Given the description of an element on the screen output the (x, y) to click on. 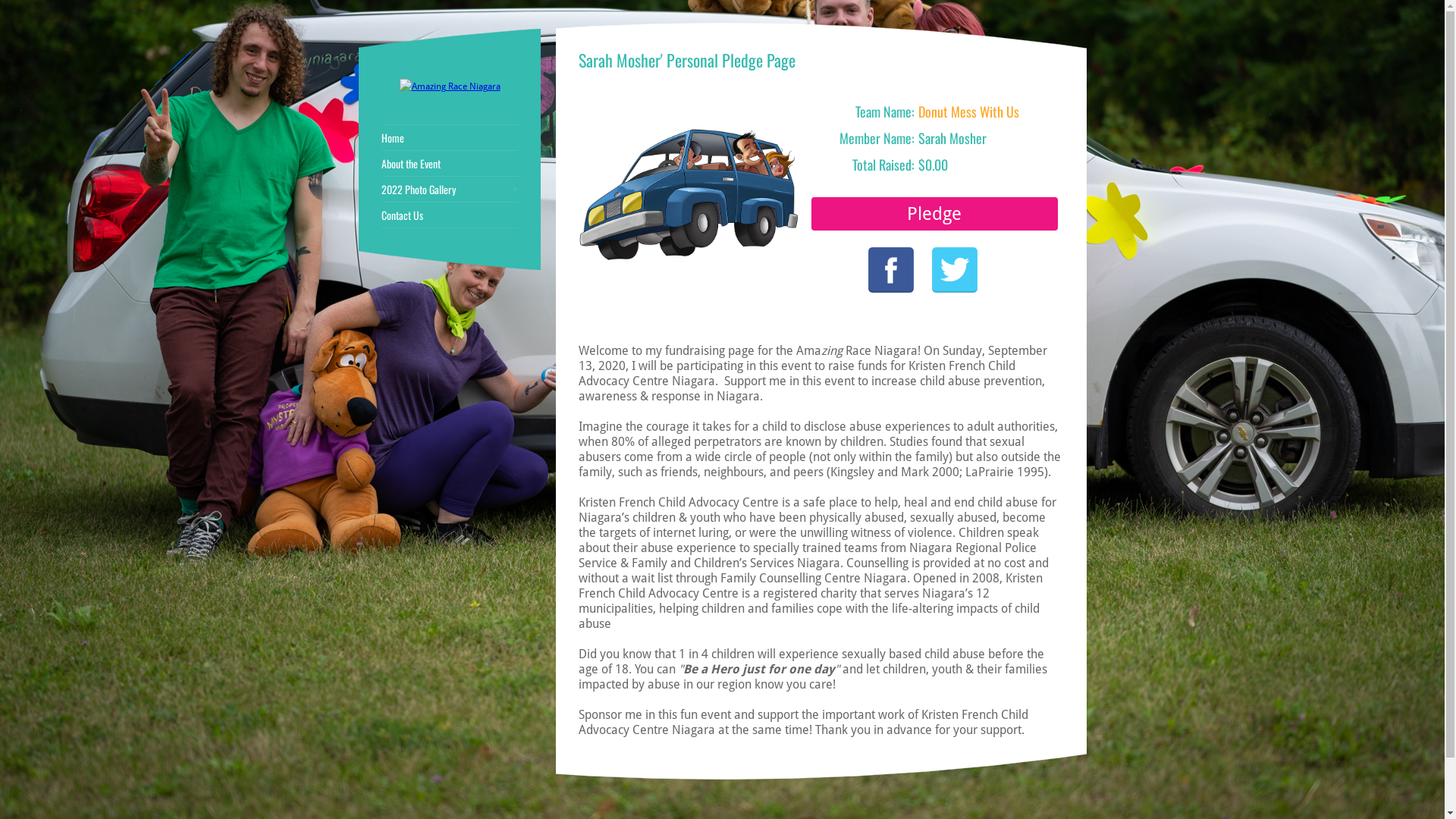
About the Event Element type: text (449, 163)
Pledge Element type: text (934, 213)
Amazing Race Niagara Element type: hover (448, 86)
Contact Us Element type: text (449, 215)
Donut Mess With Us Element type: text (968, 111)
2022 Photo Gallery Element type: text (449, 189)
Home Element type: text (449, 137)
